Given the description of an element on the screen output the (x, y) to click on. 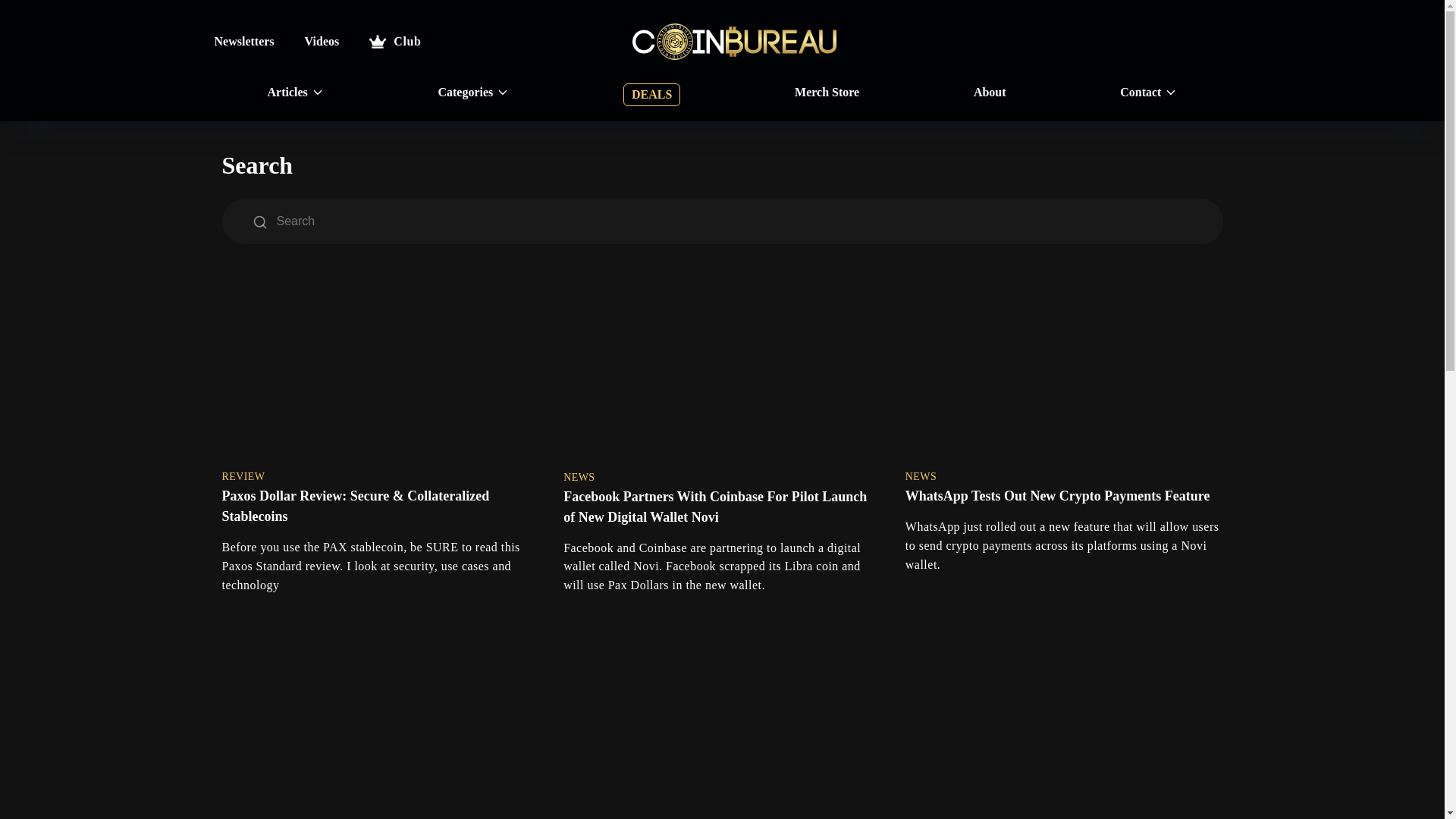
Videos (322, 41)
DEALS (651, 94)
Newsletters (243, 41)
Merch Store (826, 92)
About (990, 92)
Club (394, 41)
